Given the description of an element on the screen output the (x, y) to click on. 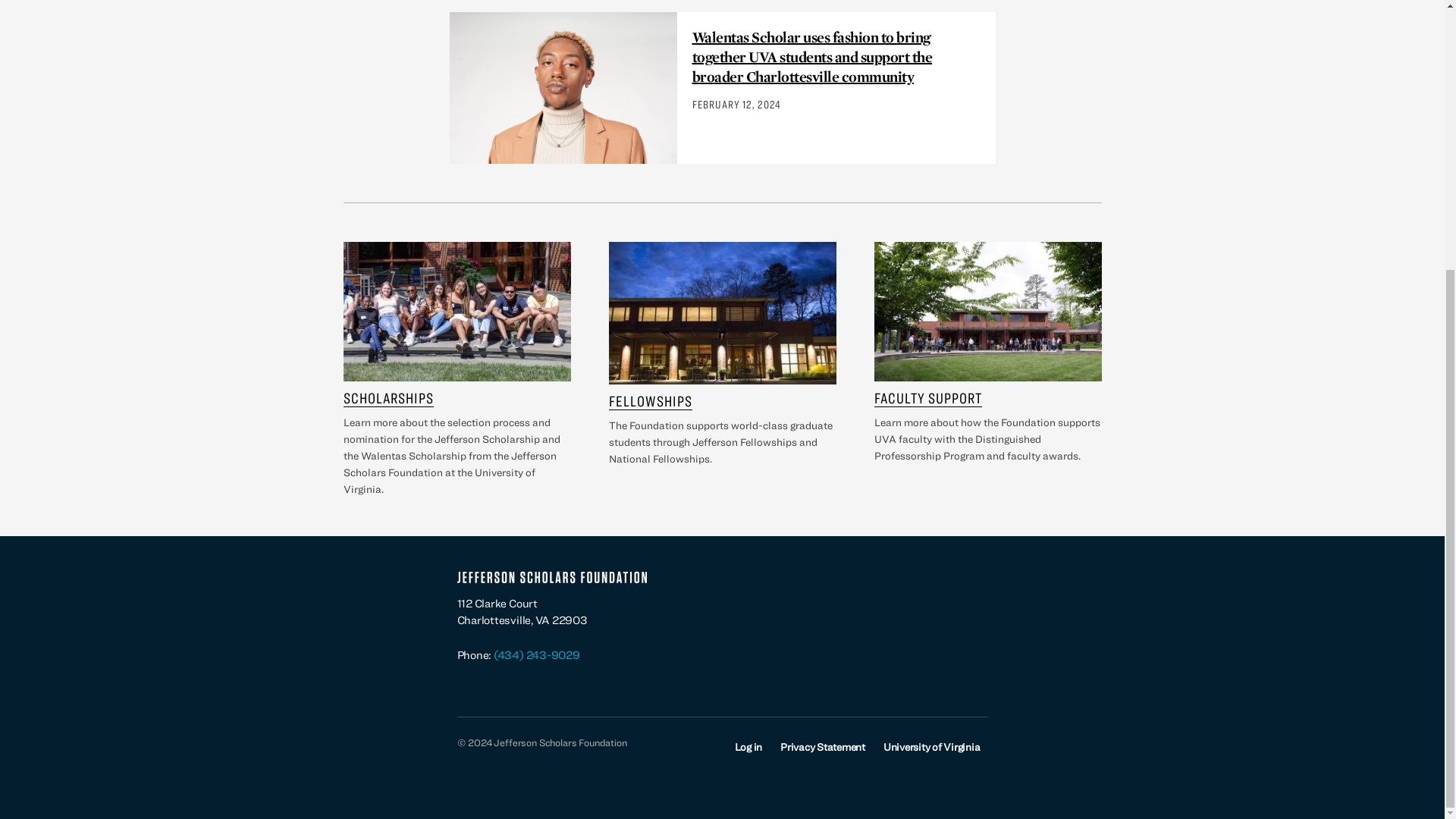
Log in (748, 746)
University of Virginia (931, 746)
FELLOWSHIPS (649, 401)
FACULTY SUPPORT (927, 398)
SCHOLARSHIPS (387, 398)
Privacy Statement (822, 746)
